Given the description of an element on the screen output the (x, y) to click on. 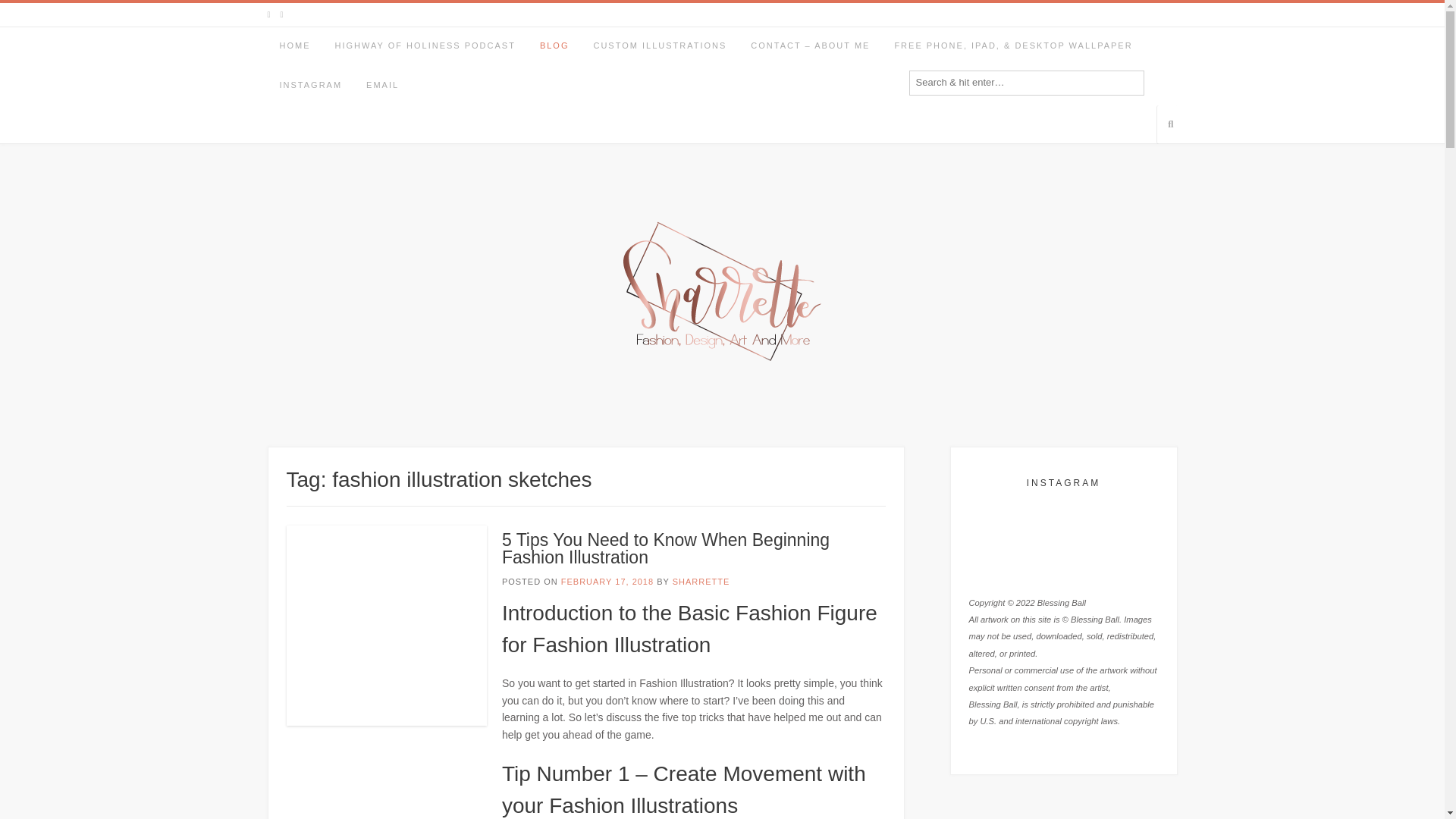
INSTAGRAM (309, 86)
FEBRUARY 17, 2018 (606, 581)
5 Tips You Need to Know When Beginning Fashion Illustration (665, 548)
SHARRETTE (701, 581)
HIGHWAY OF HOLINESS PODCAST (425, 46)
CUSTOM ILLUSTRATIONS (659, 46)
BLOG (553, 46)
EMAIL (381, 86)
HOME (293, 46)
